Given the description of an element on the screen output the (x, y) to click on. 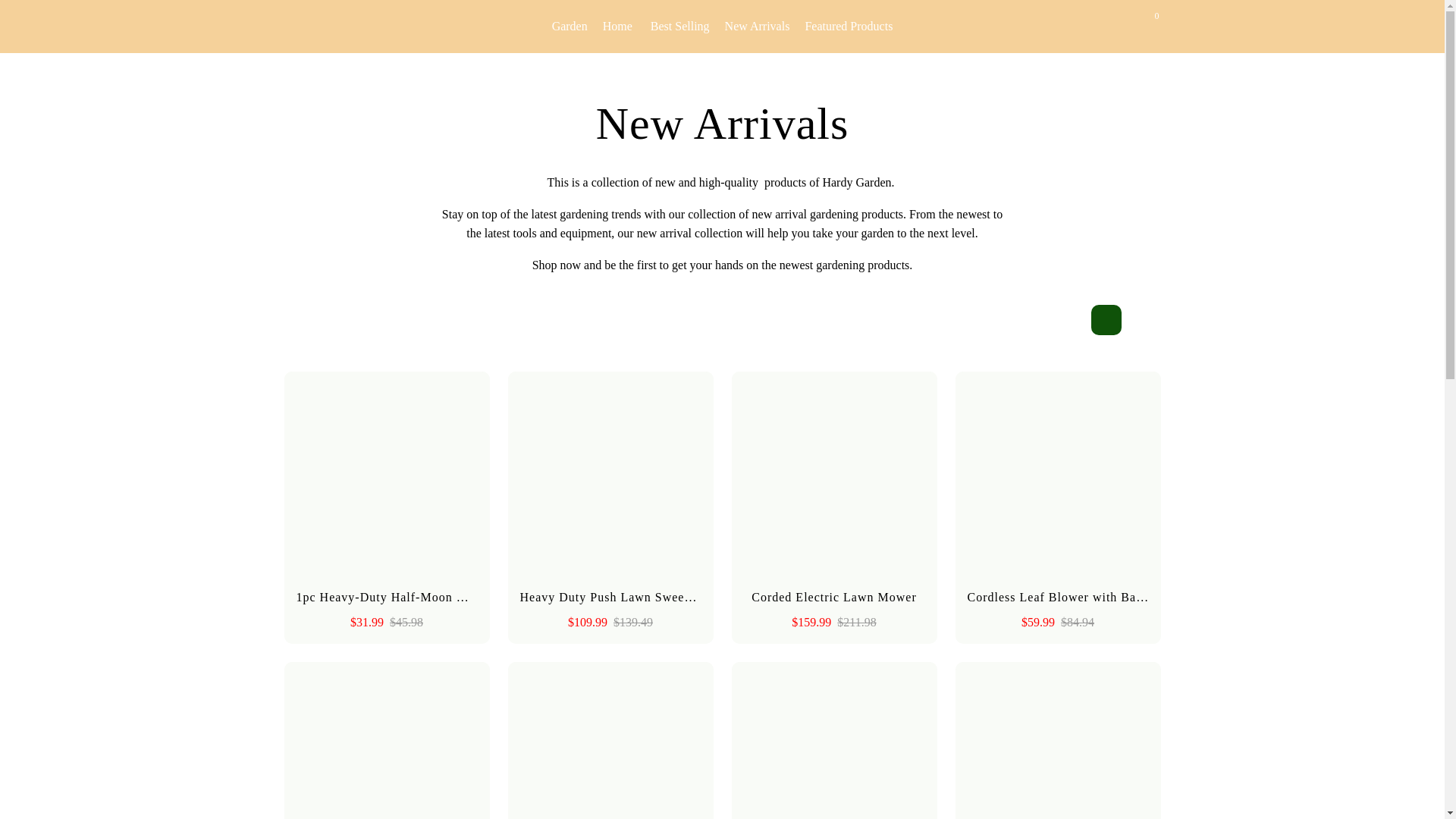
Home (619, 26)
Garden (571, 26)
